Given the description of an element on the screen output the (x, y) to click on. 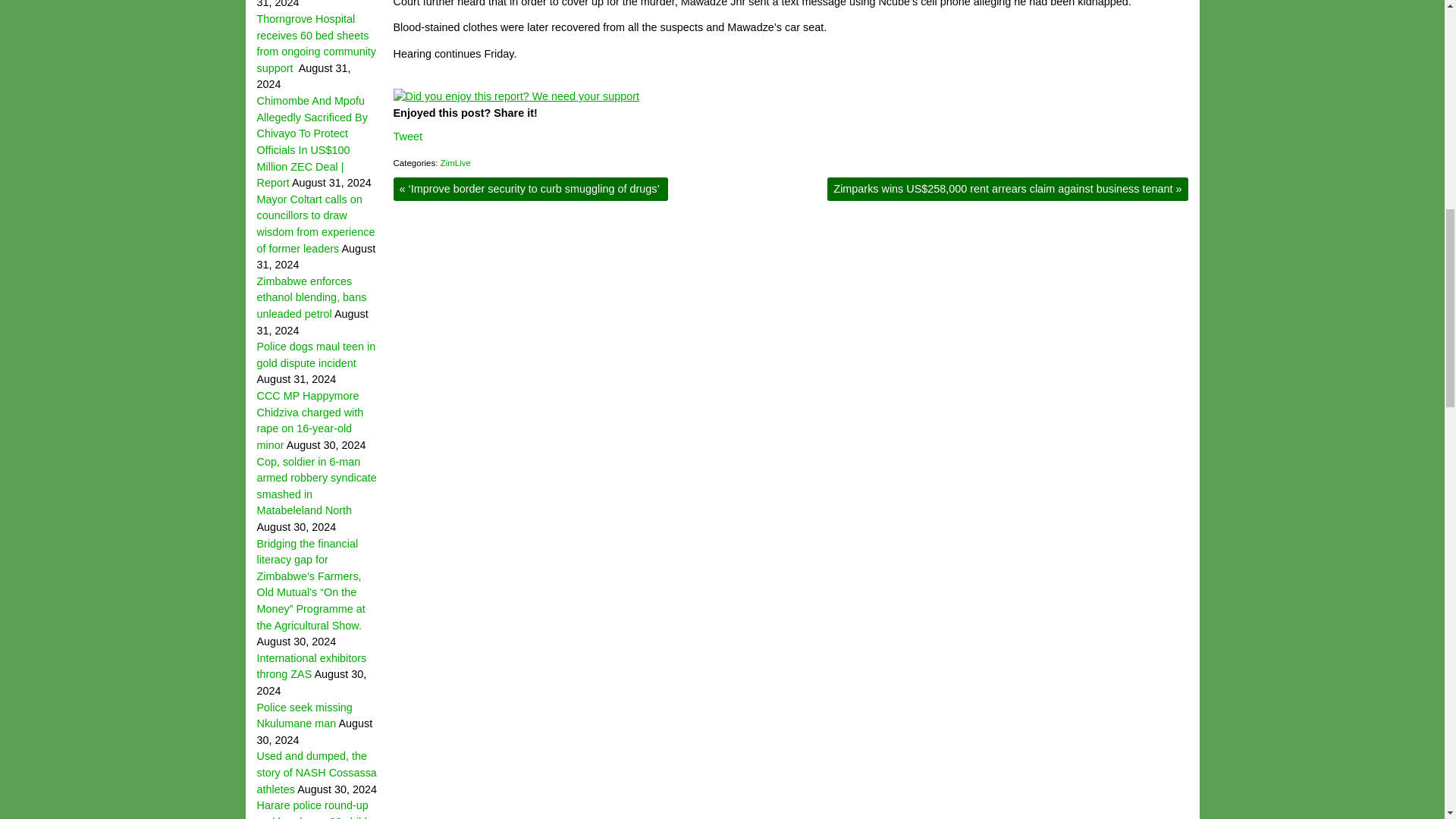
ZimLive (455, 162)
Tweet (407, 136)
